Given the description of an element on the screen output the (x, y) to click on. 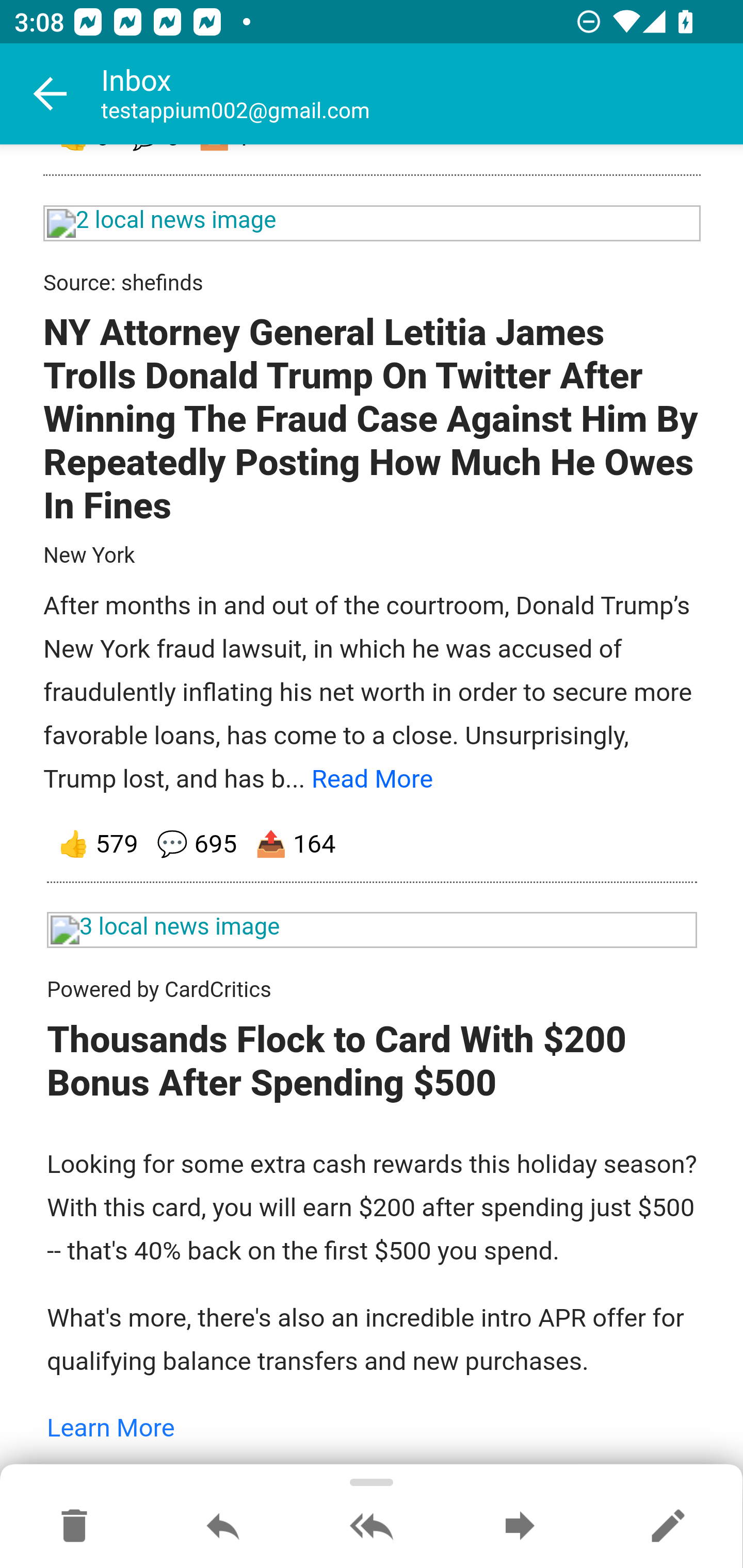
Navigate up (50, 93)
Inbox testappium002@gmail.com (422, 93)
2 local news image (372, 224)
👍 579   💬 695   📤 164 (372, 846)
3 local news image (372, 932)
Move to Deleted (74, 1527)
Reply (222, 1527)
Reply all (371, 1527)
Forward (519, 1527)
Reply as new (667, 1527)
